Given the description of an element on the screen output the (x, y) to click on. 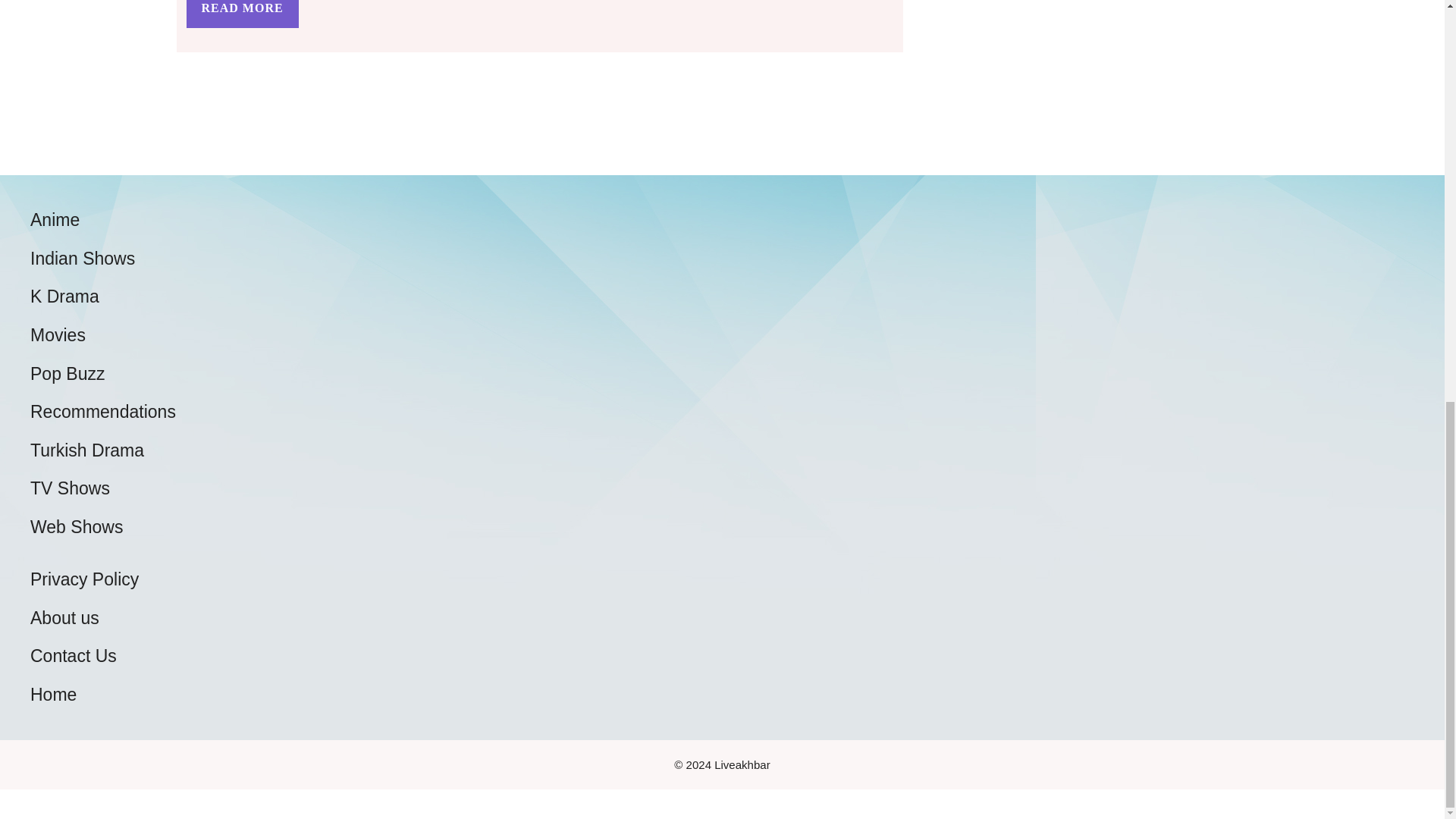
Movies (57, 334)
Indian Shows (82, 258)
Anime (55, 219)
TV Shows (70, 487)
K Drama (64, 296)
Recommendations (103, 411)
About us (64, 618)
Privacy Policy (84, 578)
Pop Buzz (67, 373)
Turkish Drama (87, 450)
Contact Us (73, 655)
Web Shows (76, 526)
READ MORE (242, 13)
Home (53, 694)
